Given the description of an element on the screen output the (x, y) to click on. 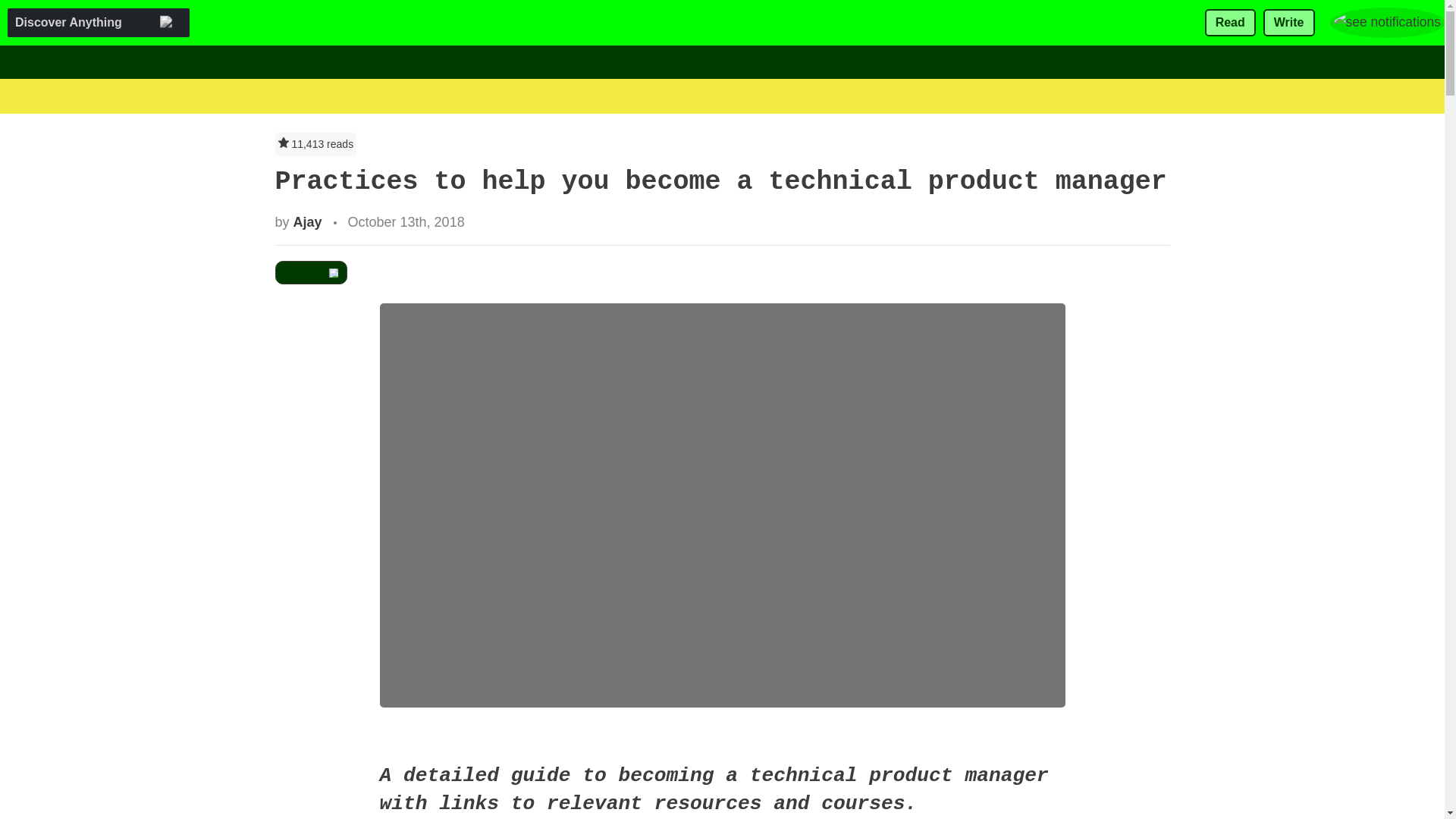
Read (1230, 22)
Ajay (307, 222)
Write (1288, 22)
